Given the description of an element on the screen output the (x, y) to click on. 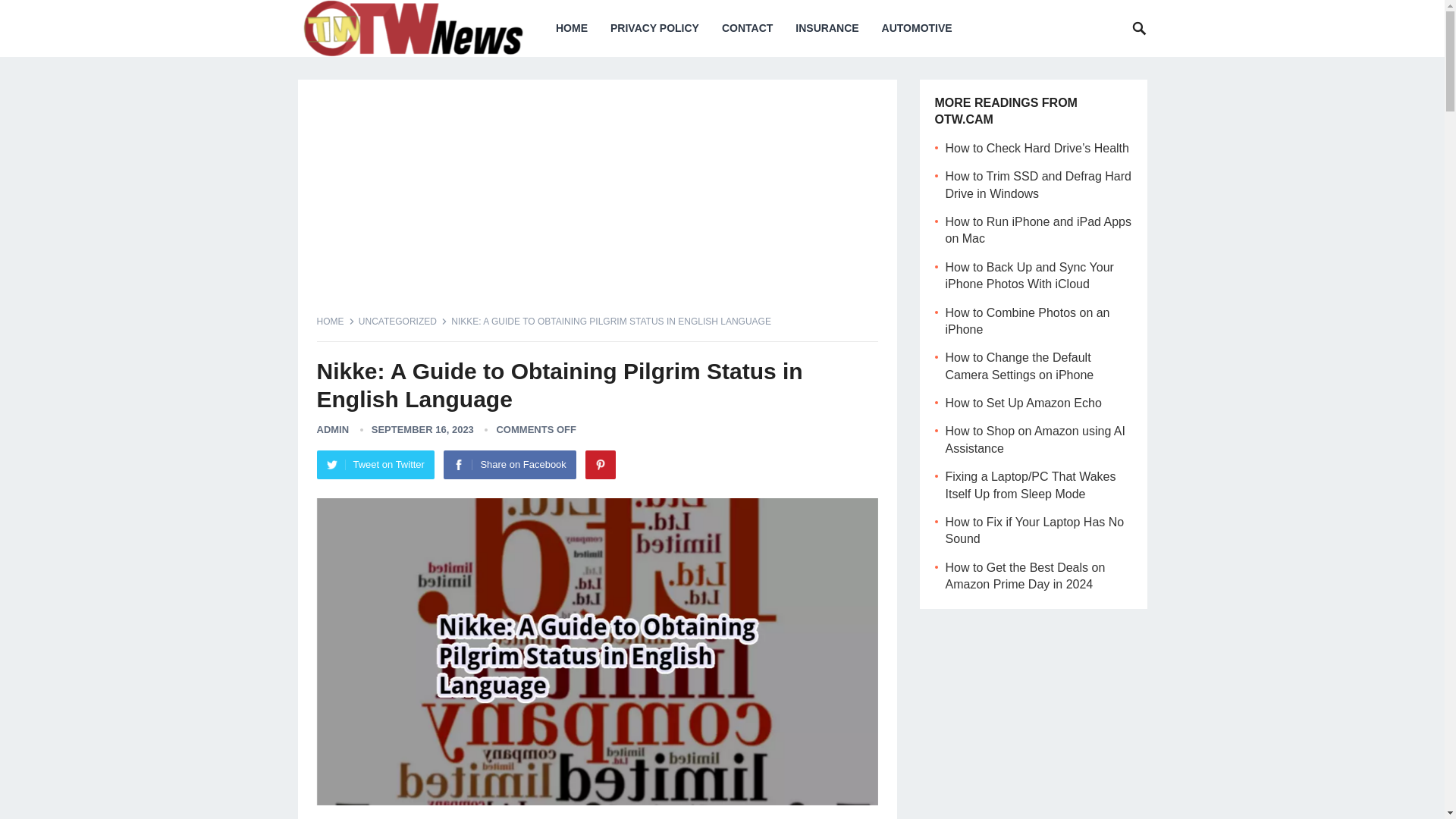
HOME (571, 28)
Pinterest (600, 464)
PRIVACY POLICY (654, 28)
UNCATEGORIZED (402, 321)
AUTOMOTIVE (916, 28)
HOME (336, 321)
Tweet on Twitter (375, 464)
Advertisement (597, 204)
INSURANCE (826, 28)
Share on Facebook (509, 464)
